Given the description of an element on the screen output the (x, y) to click on. 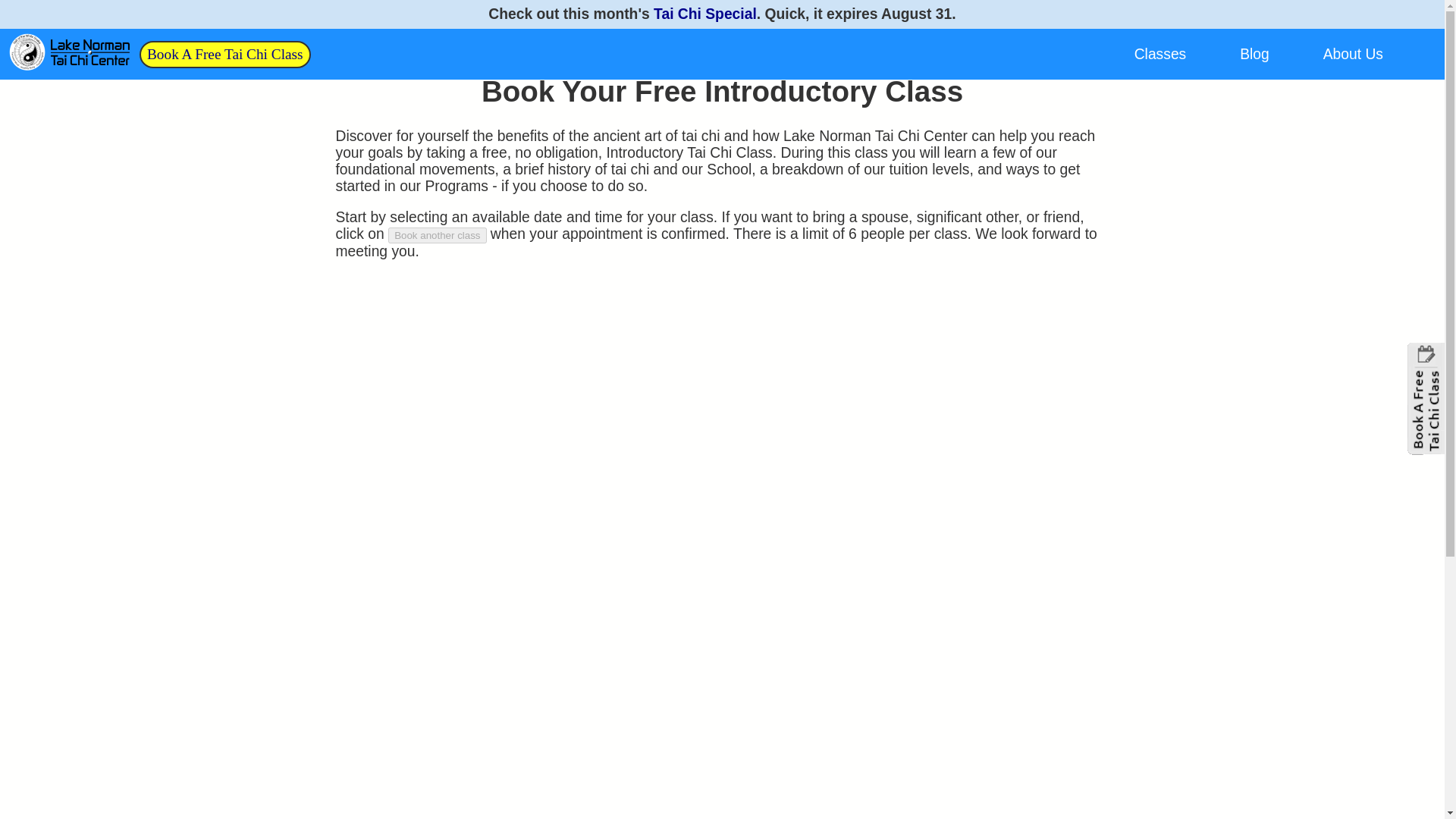
Classes (1160, 53)
Blog (1254, 53)
Book a free Introductory Tai Chi class (224, 53)
Tai Chi Special (705, 13)
Book another class (437, 235)
Book A Free Tai Chi Class (224, 53)
About Us (1353, 53)
